Given the description of an element on the screen output the (x, y) to click on. 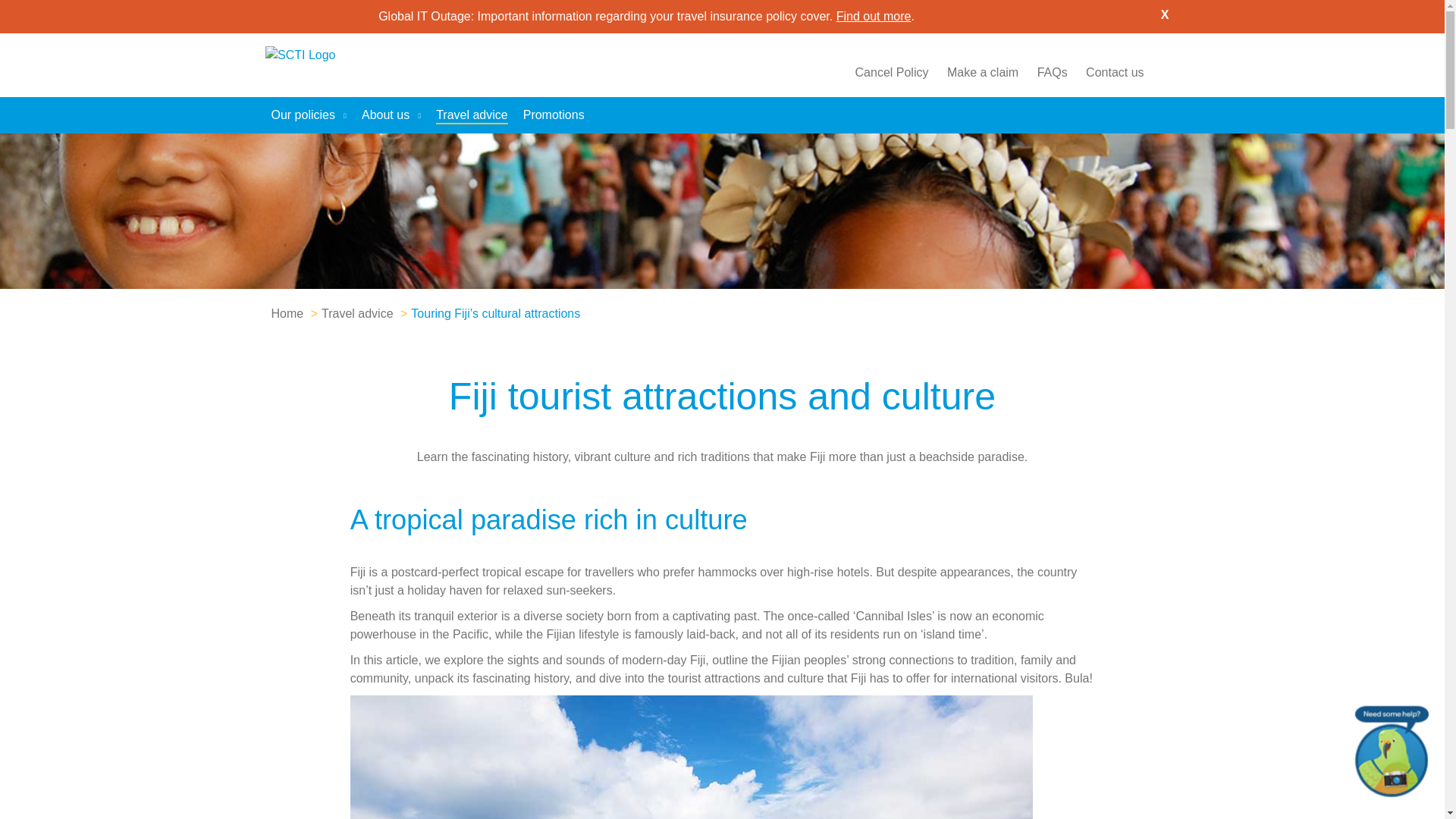
Contact us (1114, 72)
Frequently Asked Questions (1051, 72)
Find out more (873, 15)
Contact us (1114, 72)
Make a claim (982, 72)
FAQs (1051, 72)
X (1164, 14)
Our policies (308, 115)
Cancel Policy (892, 72)
Logo (332, 64)
